Given the description of an element on the screen output the (x, y) to click on. 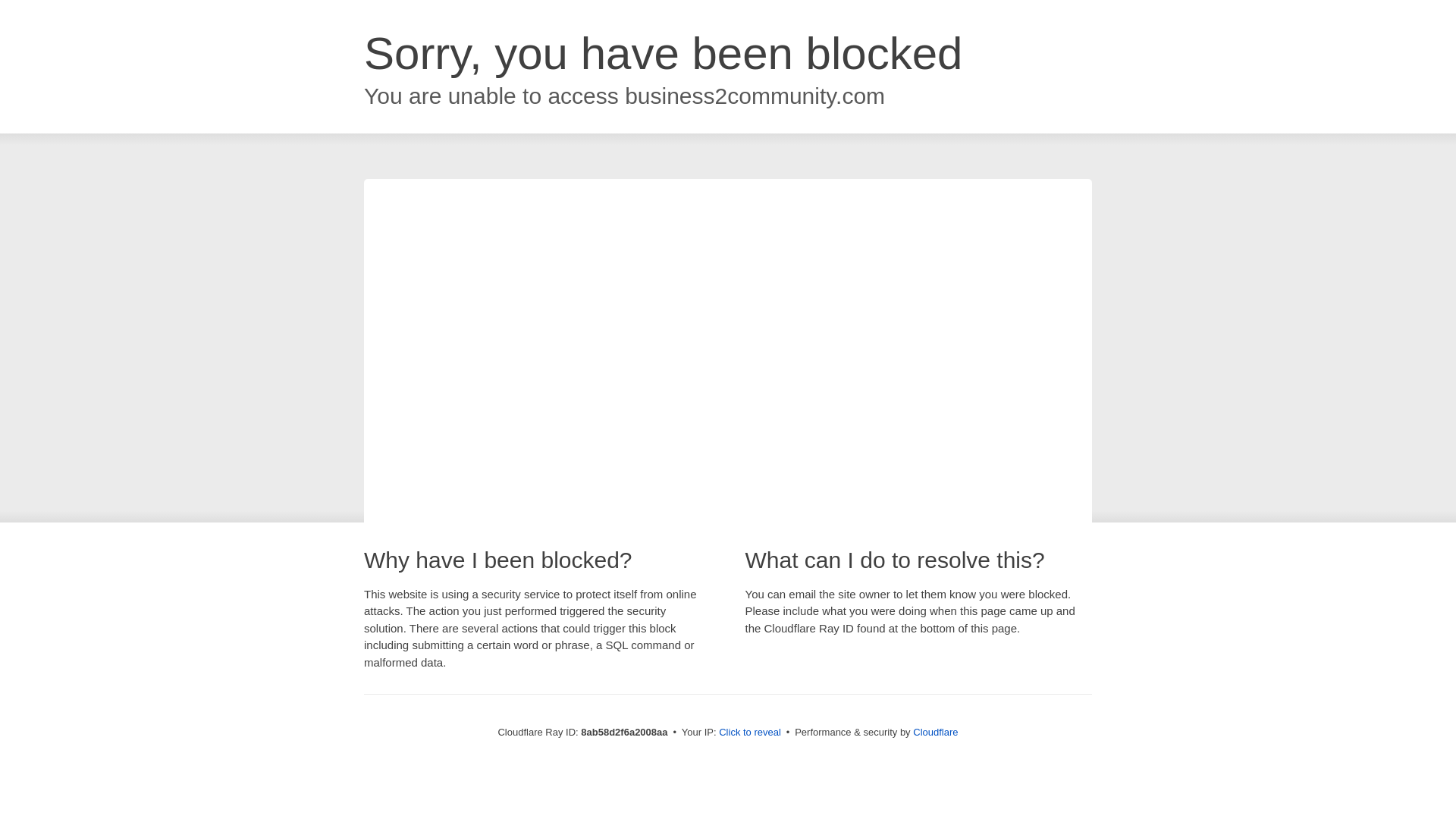
Click to reveal (749, 732)
Cloudflare (935, 731)
